Given the description of an element on the screen output the (x, y) to click on. 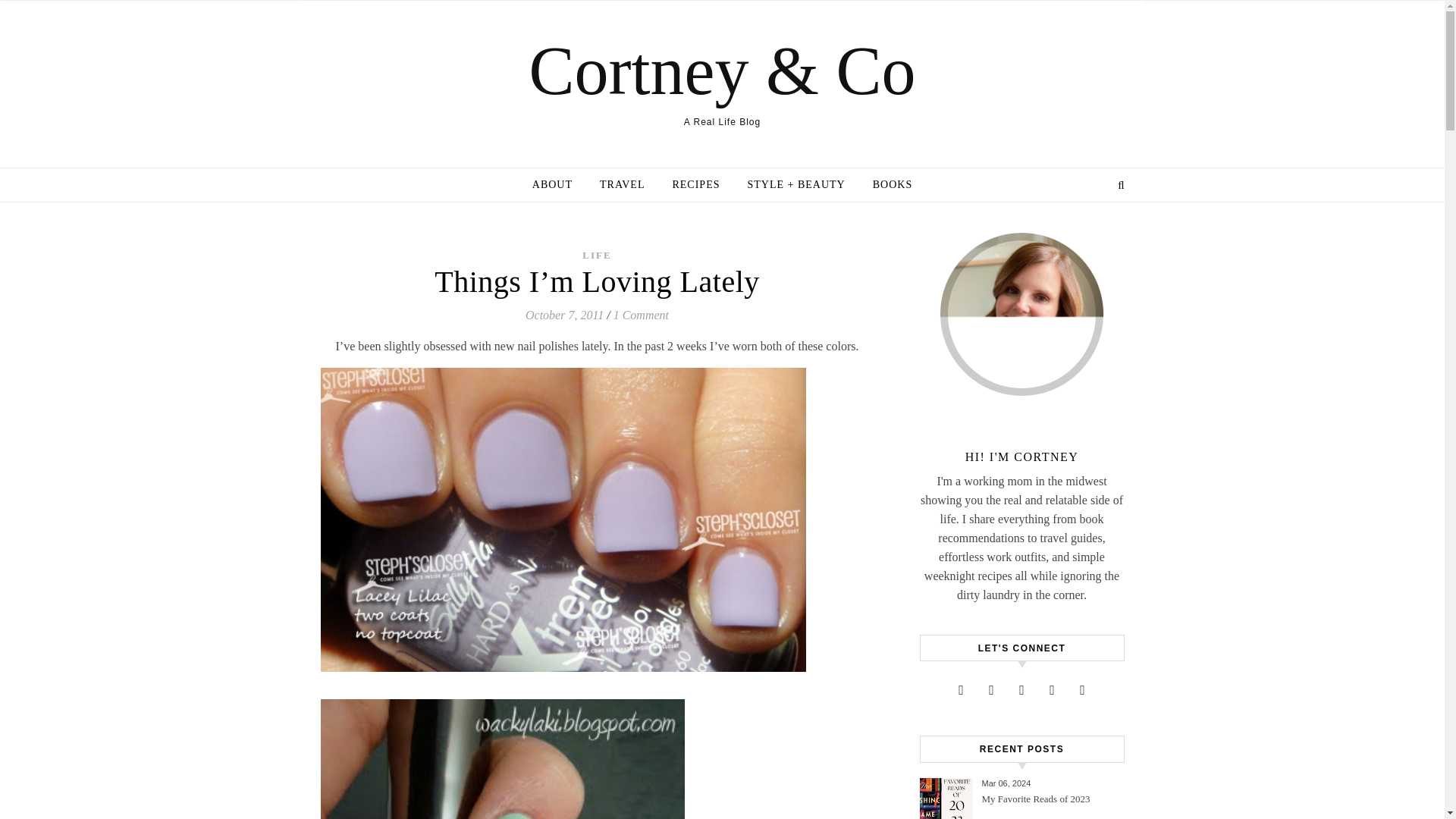
TRAVEL (622, 184)
ABOUT (558, 184)
BOOKS (886, 184)
1 Comment (640, 314)
LIFE (596, 255)
RECIPES (695, 184)
